Given the description of an element on the screen output the (x, y) to click on. 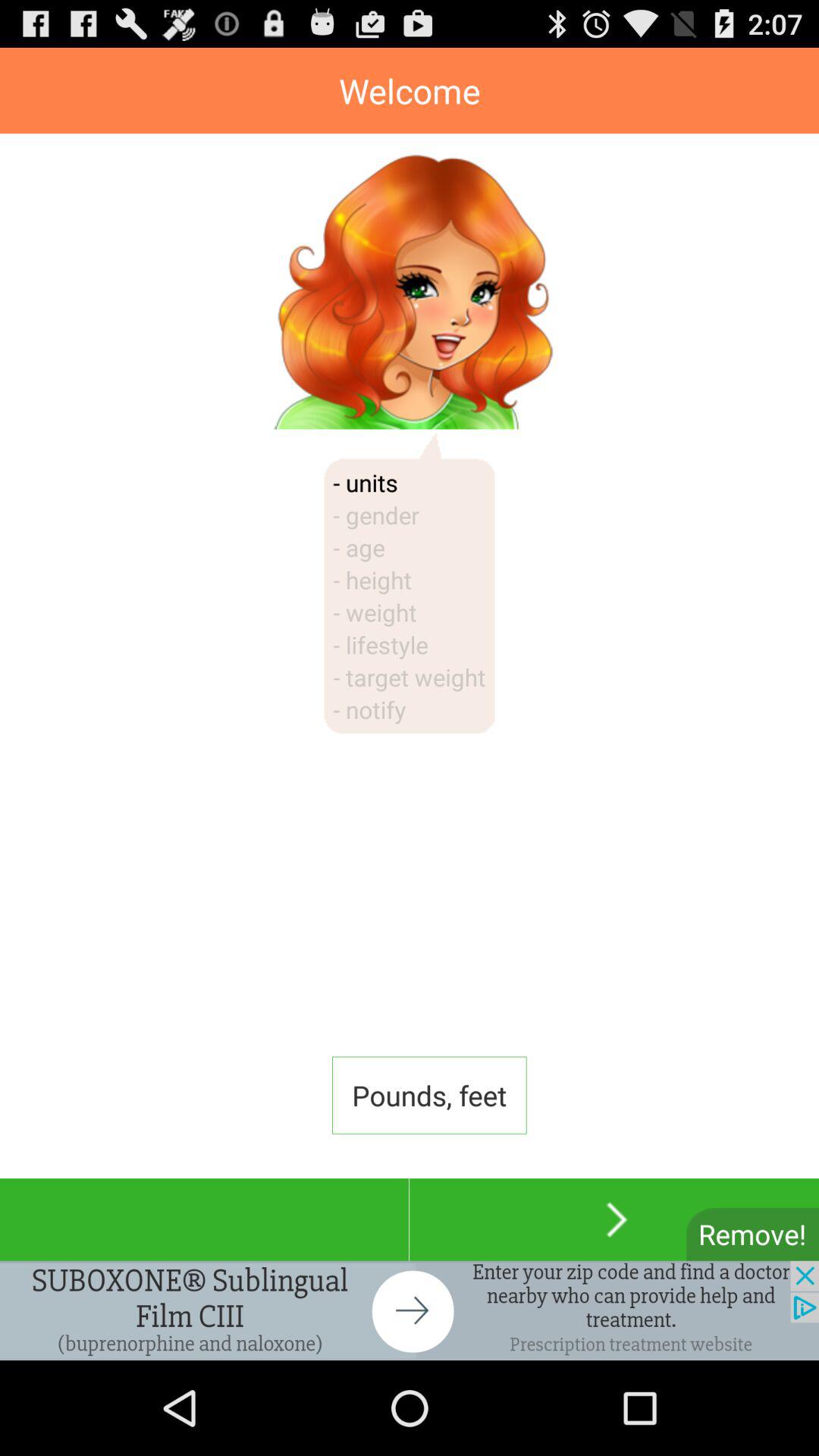
advertisement (409, 1310)
